Given the description of an element on the screen output the (x, y) to click on. 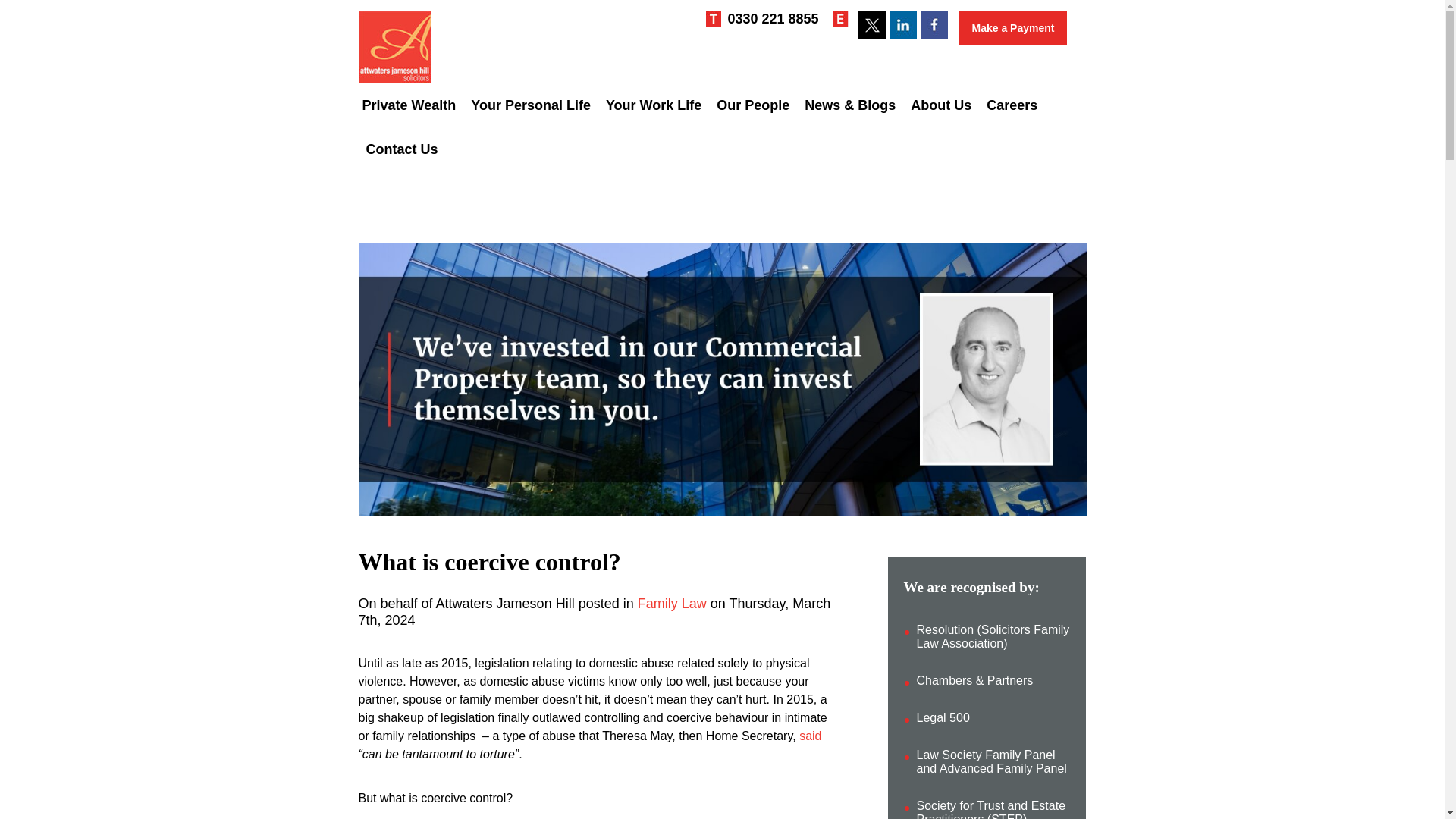
Your Work Life (653, 105)
Commercial Property (715, 140)
Town and Country Planning (720, 148)
Commercial Property (792, 141)
Make a Payment (1013, 28)
Court of Protection (529, 141)
Lease Extension (523, 141)
Dispute Resolution (529, 141)
Shared Ownership (702, 141)
Your Personal Life (530, 105)
